Given the description of an element on the screen output the (x, y) to click on. 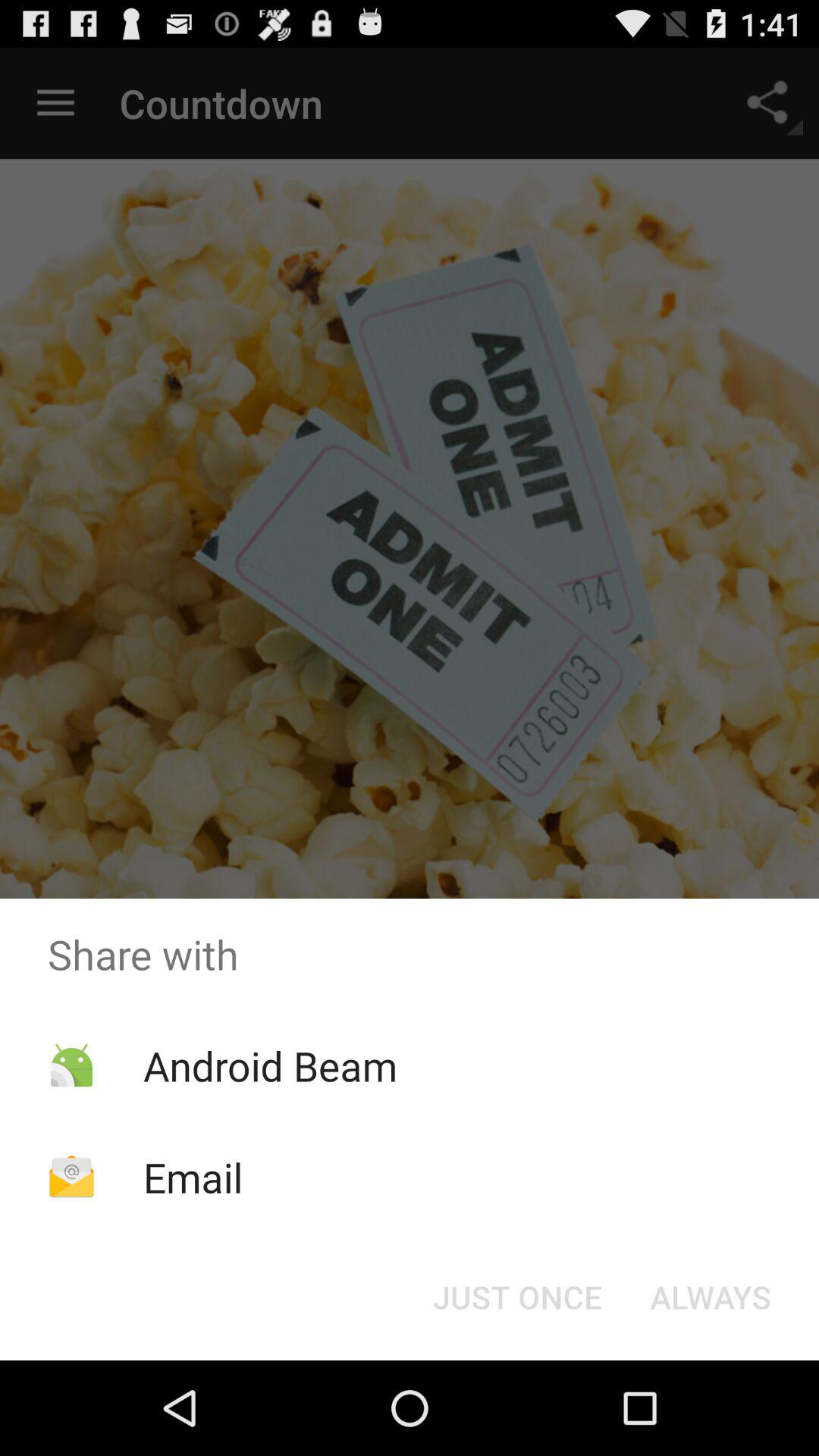
click the just once at the bottom (517, 1296)
